Given the description of an element on the screen output the (x, y) to click on. 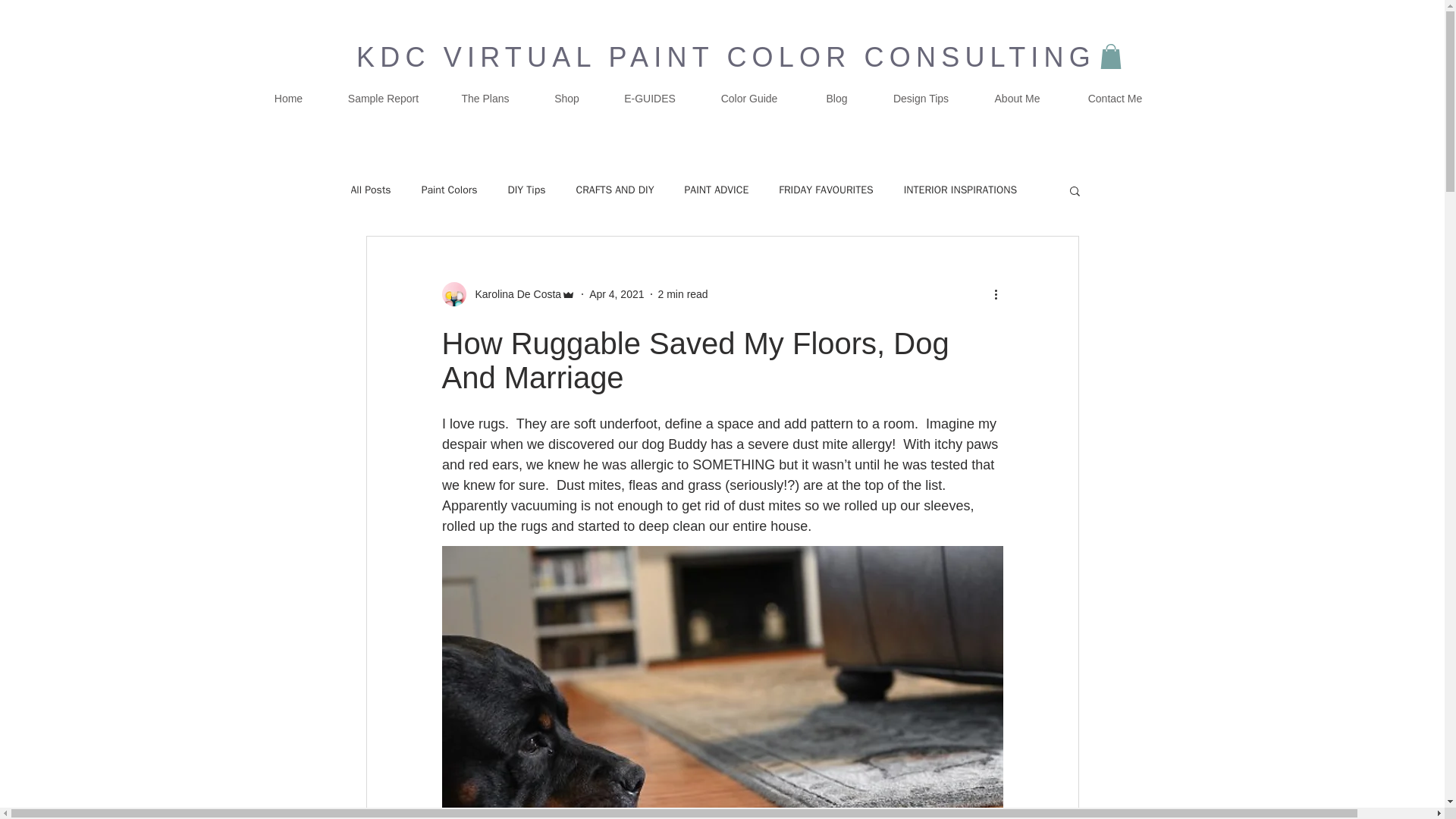
Karolina De Costa (512, 294)
PAINT ADVICE (716, 190)
DIY Tips (525, 190)
E-GUIDES (650, 97)
Blog (837, 97)
Shop (567, 97)
Home (288, 97)
Paint Colors (449, 190)
Apr 4, 2021 (616, 294)
2 min read (682, 294)
All Posts (370, 190)
Design Tips (921, 97)
Color Guide (748, 97)
KDC VIRTUAL PAINT COLOR CONSULTING (726, 56)
Karolina De Costa (508, 293)
